Given the description of an element on the screen output the (x, y) to click on. 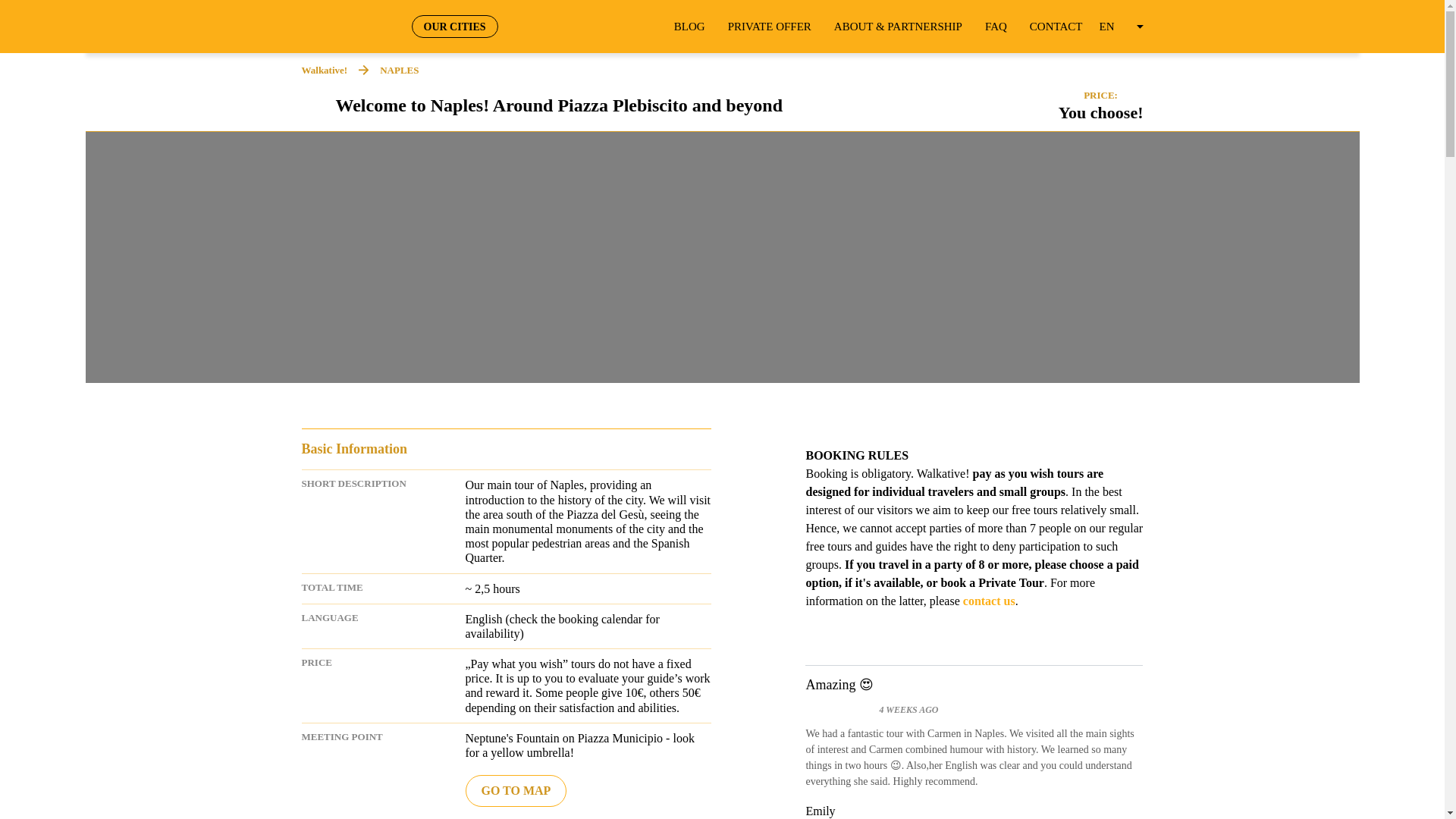
PRIVATE OFFER (769, 26)
BLOG (689, 26)
CONTACT (1056, 26)
FAQ (996, 26)
OUR CITIES (453, 26)
